Given the description of an element on the screen output the (x, y) to click on. 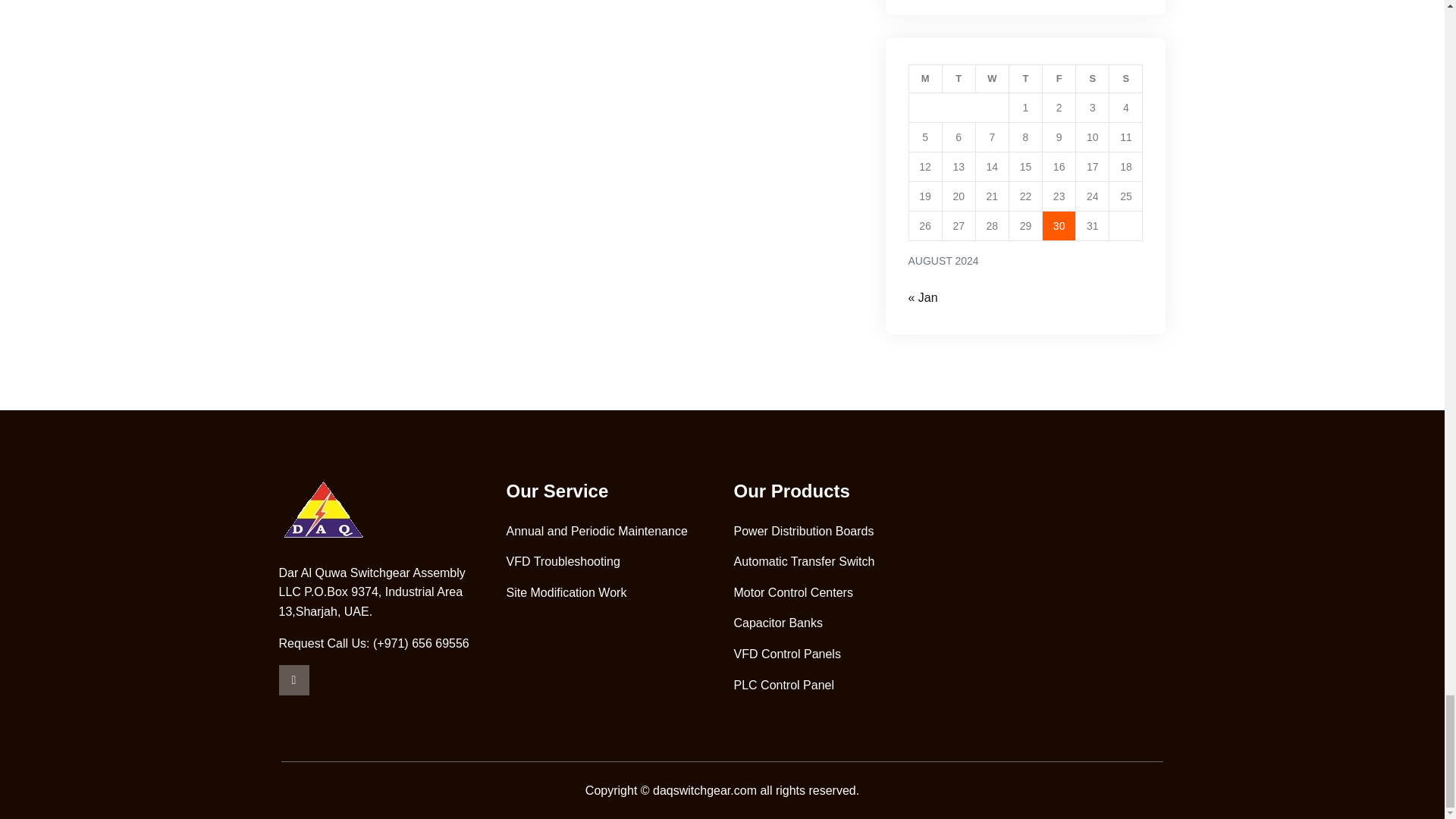
Sunday (1125, 79)
Thursday (1025, 79)
Monday (925, 79)
Facebook (293, 680)
Saturday (1092, 79)
Friday (1058, 79)
Tuesday (958, 79)
Wednesday (992, 79)
